Given the description of an element on the screen output the (x, y) to click on. 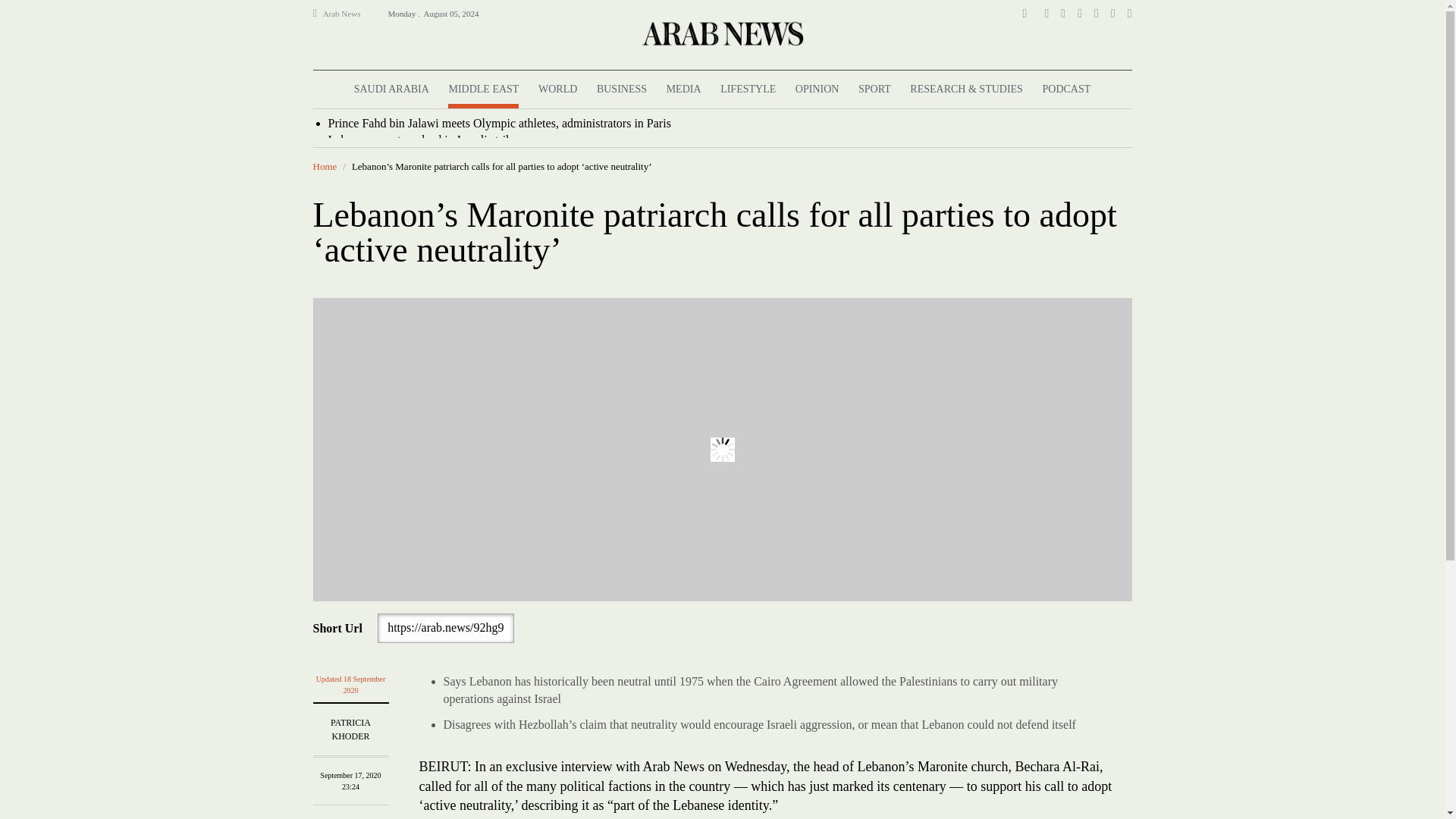
Arabnews (721, 33)
Arab News (348, 13)
